Given the description of an element on the screen output the (x, y) to click on. 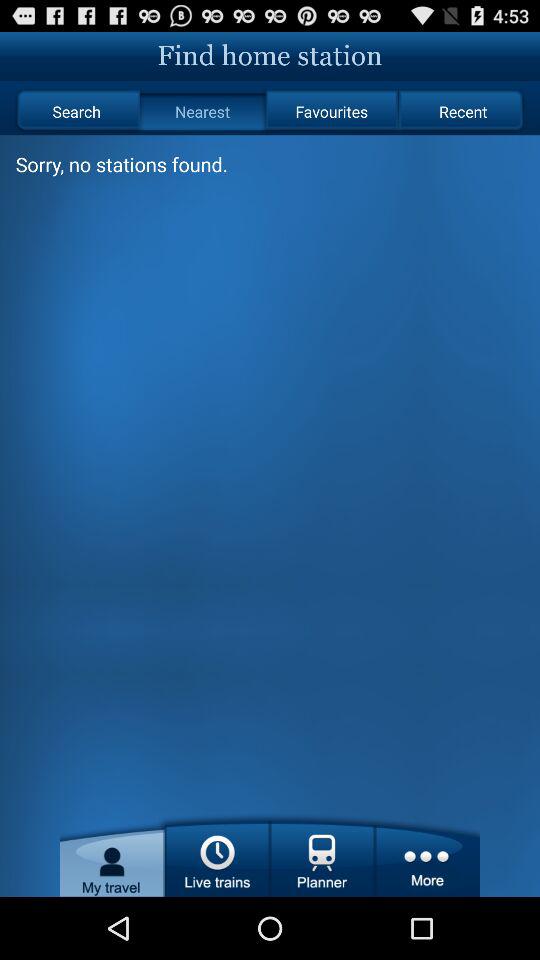
turn off the app above the sorry no stations item (202, 111)
